Given the description of an element on the screen output the (x, y) to click on. 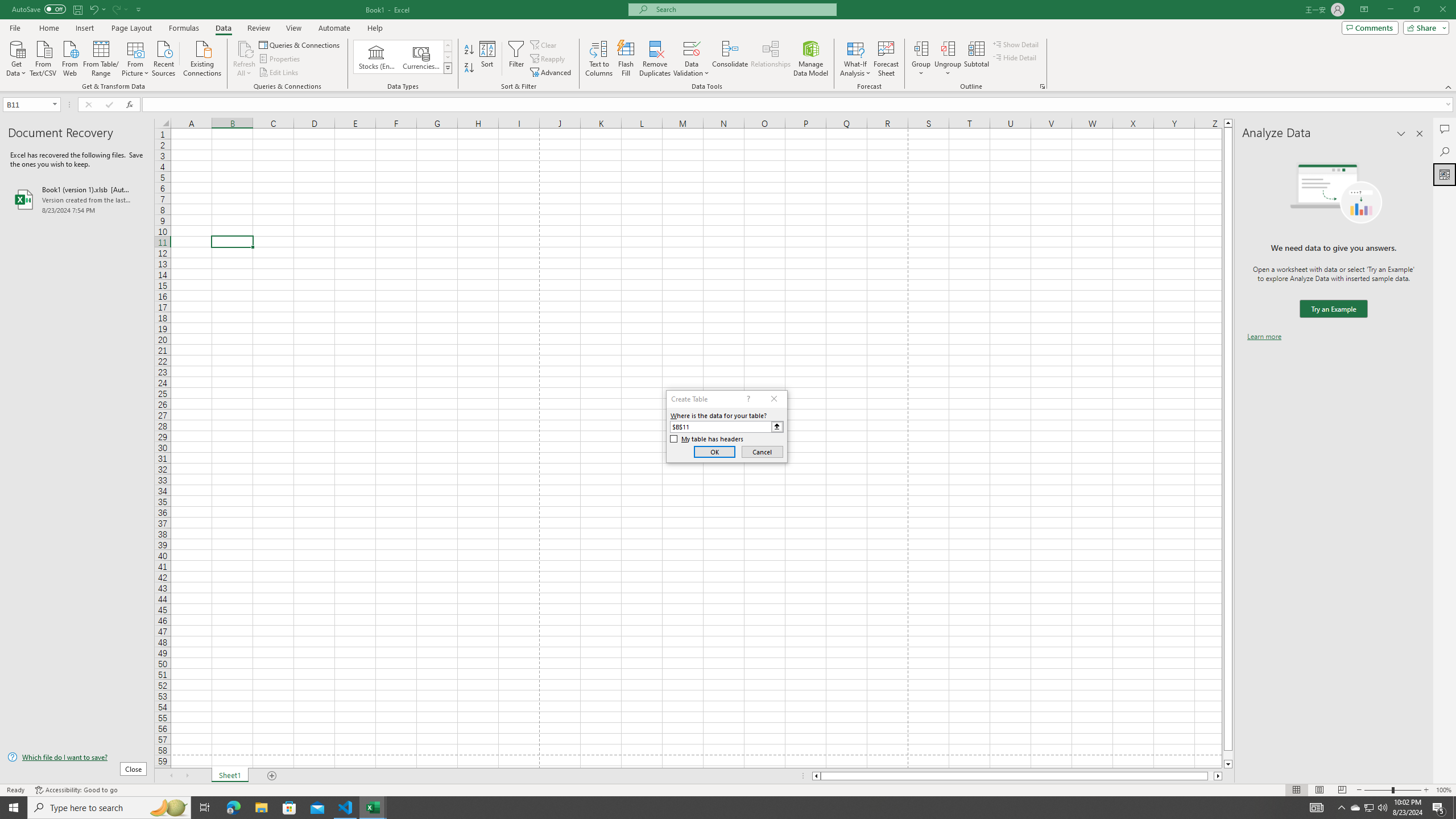
Relationships (770, 58)
